Given the description of an element on the screen output the (x, y) to click on. 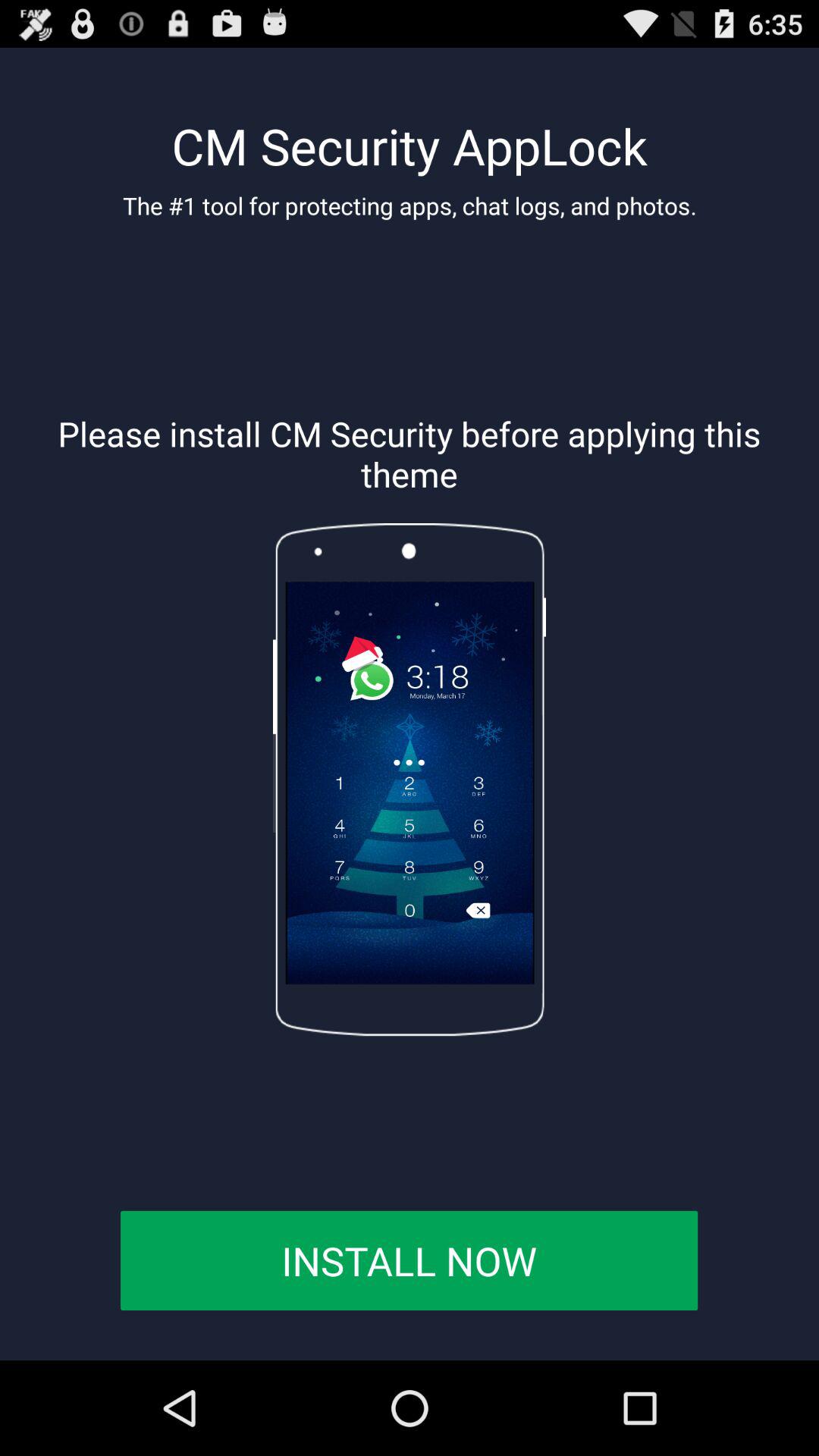
select the install now item (408, 1260)
